Given the description of an element on the screen output the (x, y) to click on. 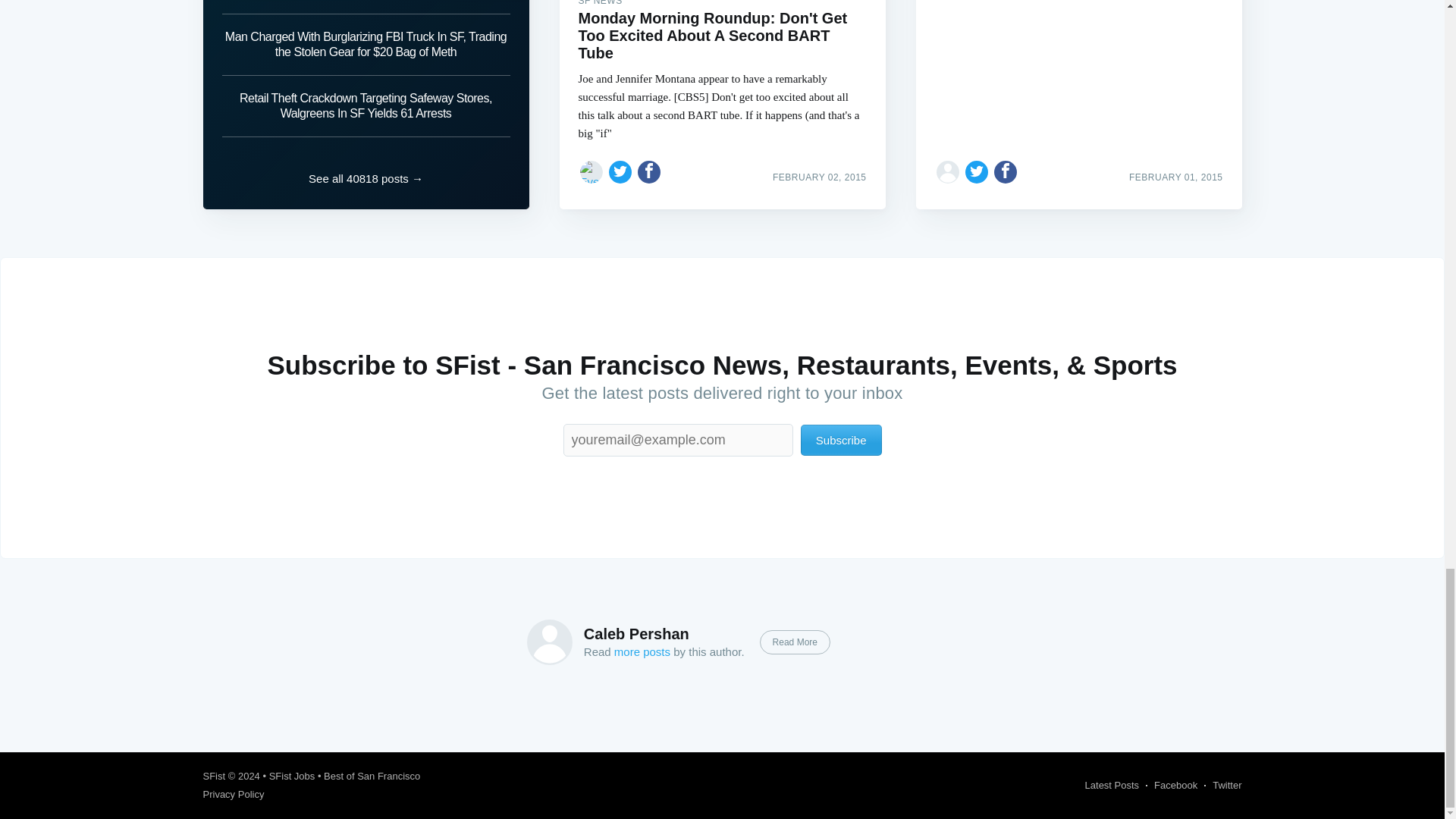
Share on Twitter (620, 171)
Subscribe (841, 440)
Share on Facebook (649, 171)
Share on Facebook (1004, 171)
Share on Twitter (976, 171)
